Given the description of an element on the screen output the (x, y) to click on. 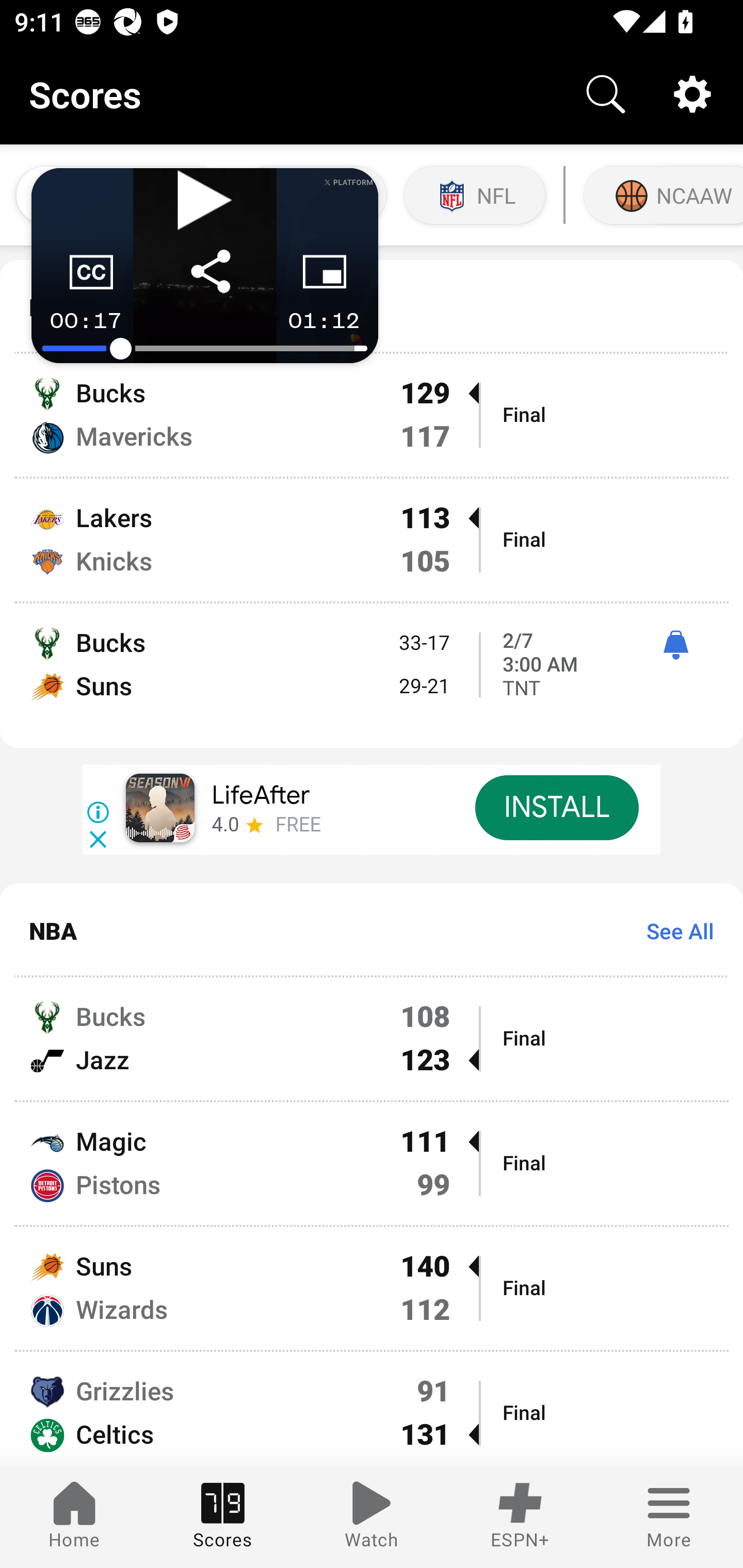
Search (605, 93)
Settings (692, 93)
NFL (474, 194)
NCAAW (661, 194)
Bucks 129  Mavericks 117 Final (371, 415)
Lakers 113  Knicks 105 Final (371, 540)
Bucks 33-17 Suns 29-21 2/7 3:00 AM ì TNT (371, 675)
ì (675, 644)
INSTALL (556, 807)
LifeAfter (260, 795)
NBA See All (371, 929)
See All (673, 930)
Bucks 108 Jazz 123  Final (371, 1038)
Magic 111  Pistons 99 Final (371, 1163)
Suns 140  Wizards 112 Final (371, 1288)
Grizzlies 91 Celtics 131  Final (371, 1409)
Home (74, 1517)
Watch (371, 1517)
ESPN+ (519, 1517)
More (668, 1517)
